Given the description of an element on the screen output the (x, y) to click on. 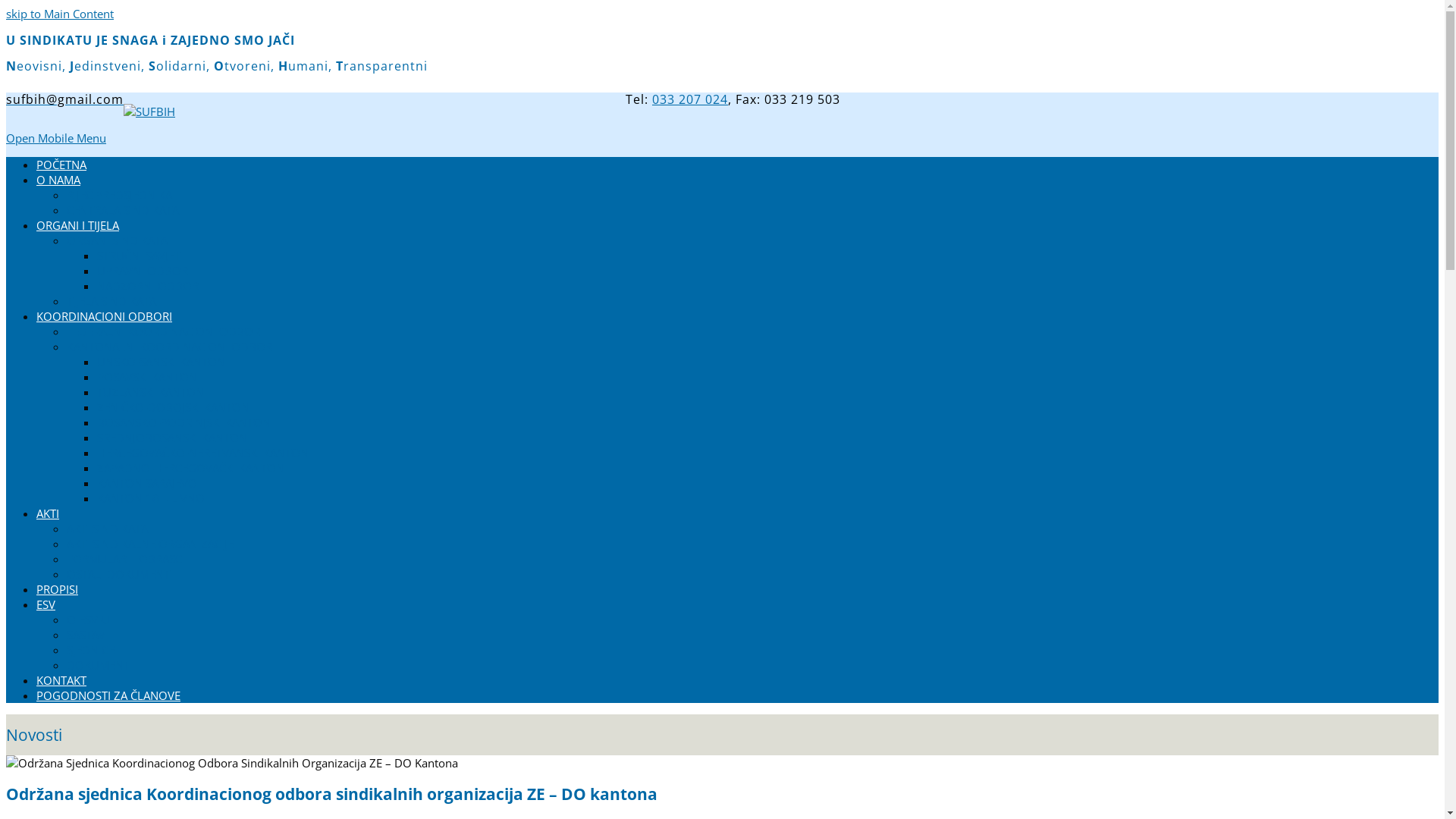
033 207 024 Element type: text (690, 99)
O NAMA Element type: text (58, 179)
FORMULARI I OBRASCI Element type: text (125, 558)
ESV Element type: text (45, 603)
OSTALI DOKUMENTI Element type: text (119, 573)
AKTI SINDIKALNE ORGANIZACIJE Element type: text (149, 543)
UPRAVNI ODBOR Element type: text (142, 270)
Open Mobile Menu Element type: text (56, 137)
UNSKO-SANSKI KANTON Element type: text (161, 361)
AKTI Element type: text (47, 512)
sufbih@gmail.com Element type: text (64, 99)
KANTONALNI KOORDINACIONI ODBORI Element type: text (170, 346)
KANTON SARAJEVO Element type: text (147, 482)
SASTAV Element type: text (85, 634)
TIJELA SINDIKATA Element type: text (111, 300)
TUZLANSKI KANTON Element type: text (150, 391)
PROPISI Element type: text (57, 588)
POSAVSKI KANTON Element type: text (147, 376)
KOORDINACIONI ODBORI Element type: text (104, 315)
SREDNJOBOSANSKI KANTON Element type: text (172, 437)
FEDERALNI KOORDINACIONI ODBOR Element type: text (163, 330)
DOKUMENTI Element type: text (99, 664)
CENTRALA SINDIKATA Element type: text (122, 209)
NADZORNI ODBOR Element type: text (147, 285)
SJEDNICE Element type: text (90, 649)
skip to Main Content Element type: text (59, 13)
BOSANSKO-PODRINJSKI KANTON Element type: text (183, 421)
ORGANI SINDIKATA Element type: text (116, 239)
AKTI SINDIKATA Element type: text (106, 528)
ORGANI I TIJELA Element type: text (77, 224)
O ESV-U Element type: text (87, 619)
KONTAKT Element type: text (61, 679)
